Given the description of an element on the screen output the (x, y) to click on. 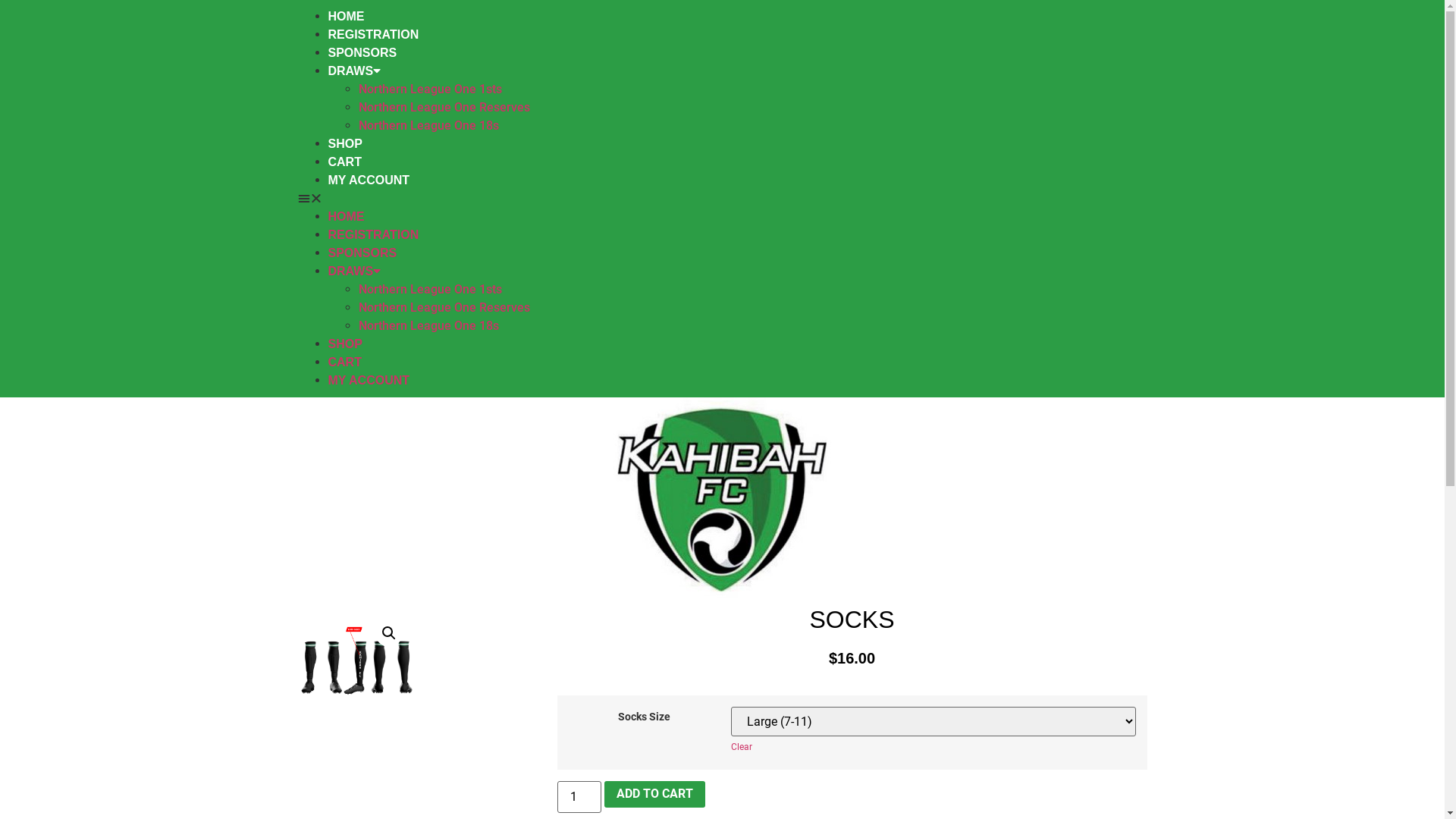
MY ACCOUNT Element type: text (368, 379)
Northern League One 1sts Element type: text (429, 289)
SPONSORS Element type: text (361, 52)
CART Element type: text (343, 161)
REGISTRATION Element type: text (372, 34)
DRAWS Element type: text (353, 270)
socks Element type: hover (355, 665)
REGISTRATION Element type: text (372, 234)
Clear Element type: text (741, 746)
Northern League One 1sts Element type: text (429, 88)
Northern League One Reserves Element type: text (443, 307)
HOME Element type: text (345, 15)
SPONSORS Element type: text (361, 252)
Qty Element type: hover (578, 796)
Northern League One Reserves Element type: text (443, 107)
SHOP Element type: text (344, 343)
SHOP Element type: text (344, 143)
CART Element type: text (343, 361)
Northern League One 18s Element type: text (427, 325)
Northern League One 18s Element type: text (427, 125)
DRAWS Element type: text (353, 70)
HOME Element type: text (345, 216)
ADD TO CART Element type: text (654, 794)
MY ACCOUNT Element type: text (368, 179)
